Given the description of an element on the screen output the (x, y) to click on. 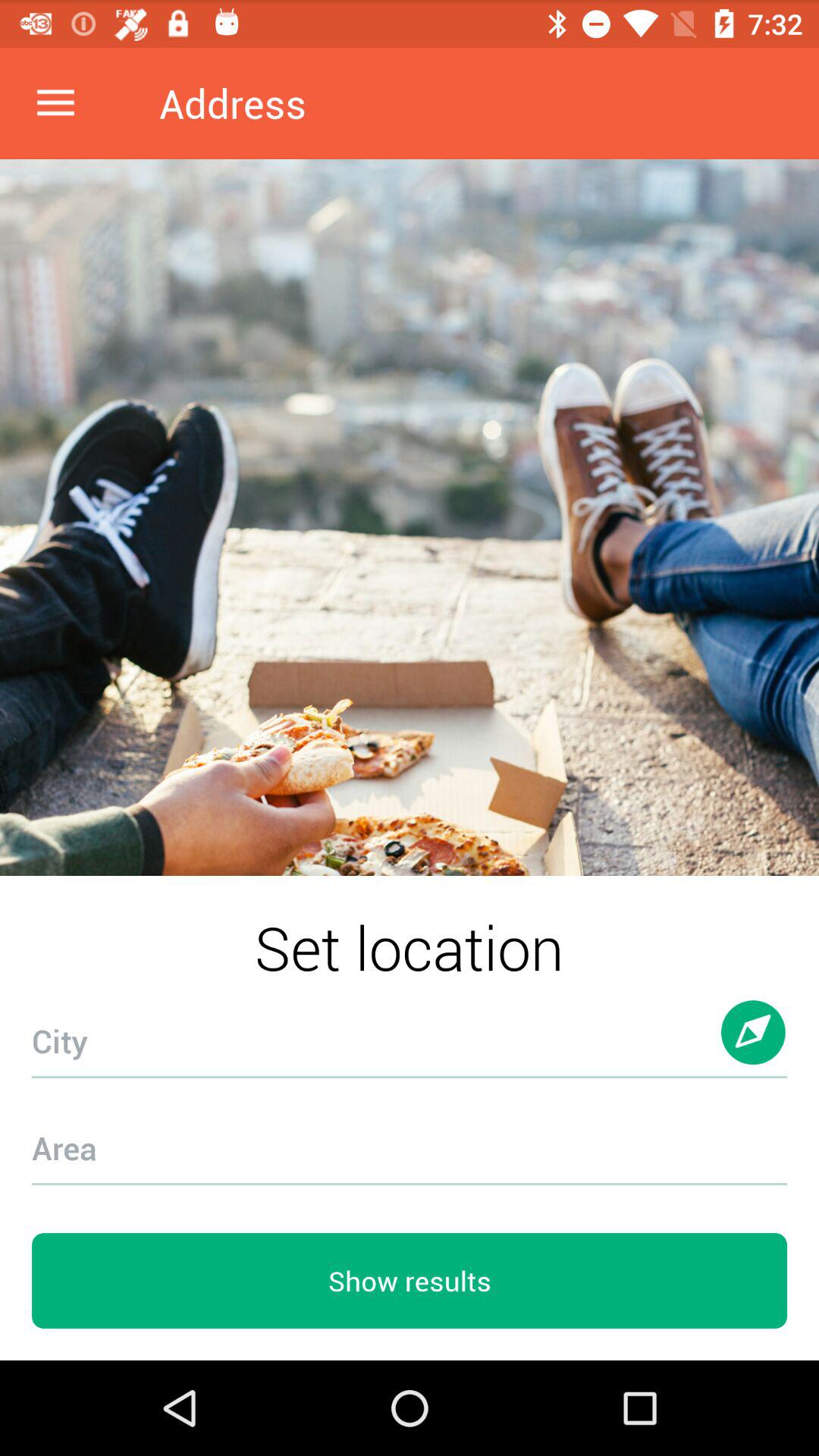
select item to the left of the address item (55, 103)
